Given the description of an element on the screen output the (x, y) to click on. 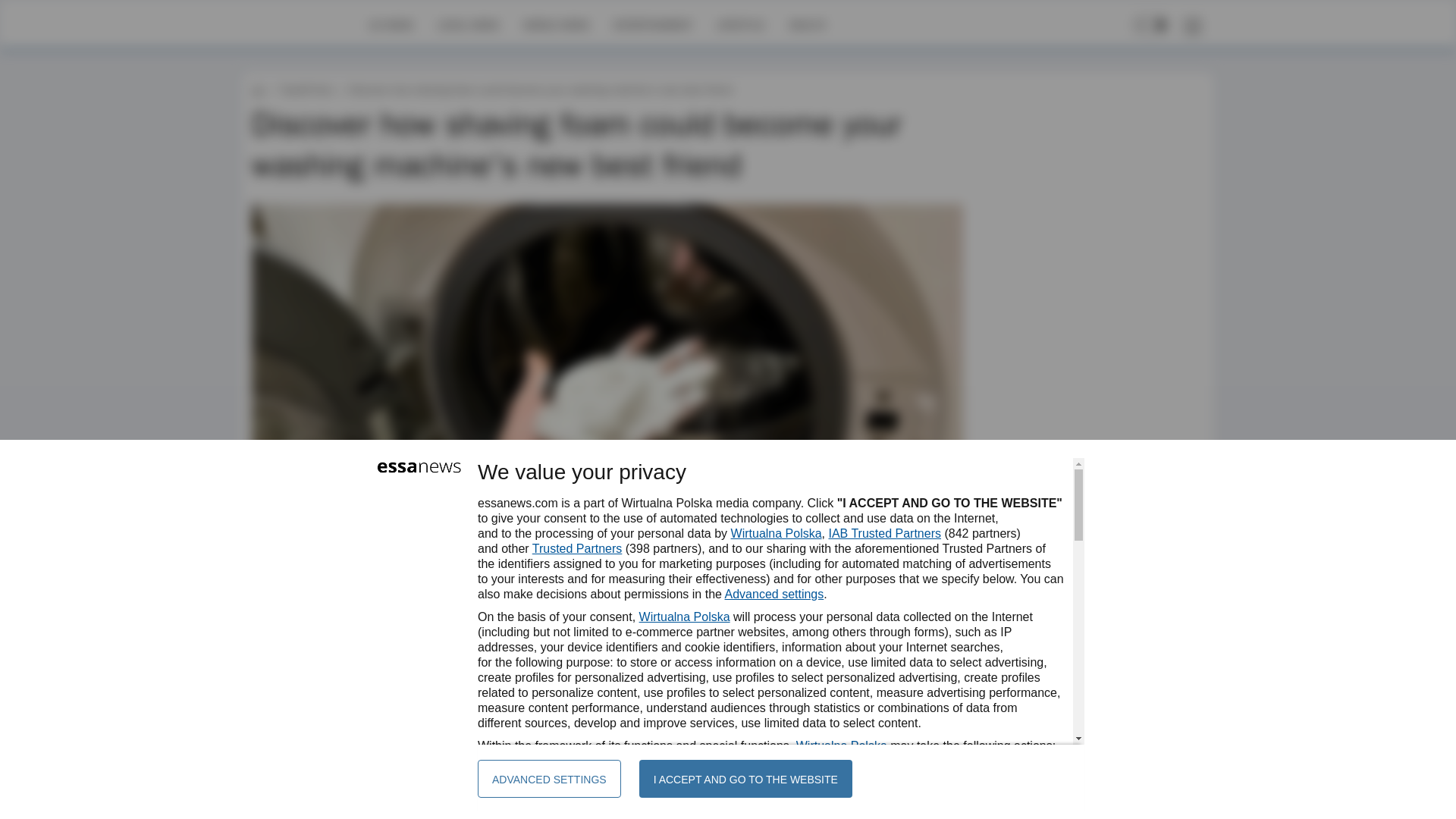
LIFESTYLE (740, 24)
HEALTH (807, 24)
WORLD NEWS (555, 24)
ALB (298, 641)
ENTERTAINMENT (652, 24)
Homepage (305, 24)
US NEWS (390, 24)
ALB (298, 641)
SHARE (936, 649)
LOCAL NEWS (468, 24)
essanews.com (257, 89)
